Given the description of an element on the screen output the (x, y) to click on. 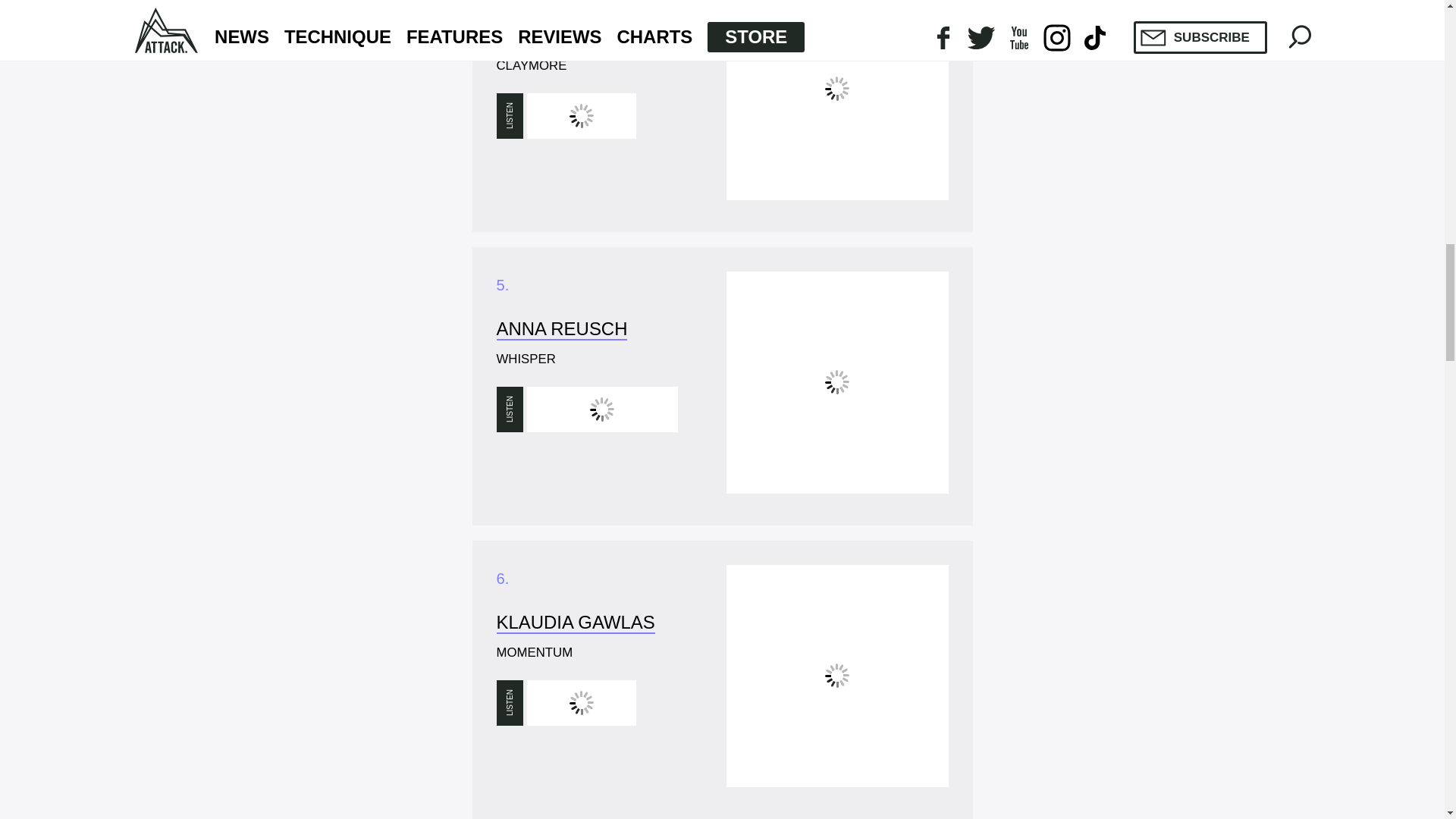
Hanubis - Claymore (837, 99)
Klaudia Gawlas - Momentum (837, 676)
Anna Reusch - Whisper (837, 382)
